Given the description of an element on the screen output the (x, y) to click on. 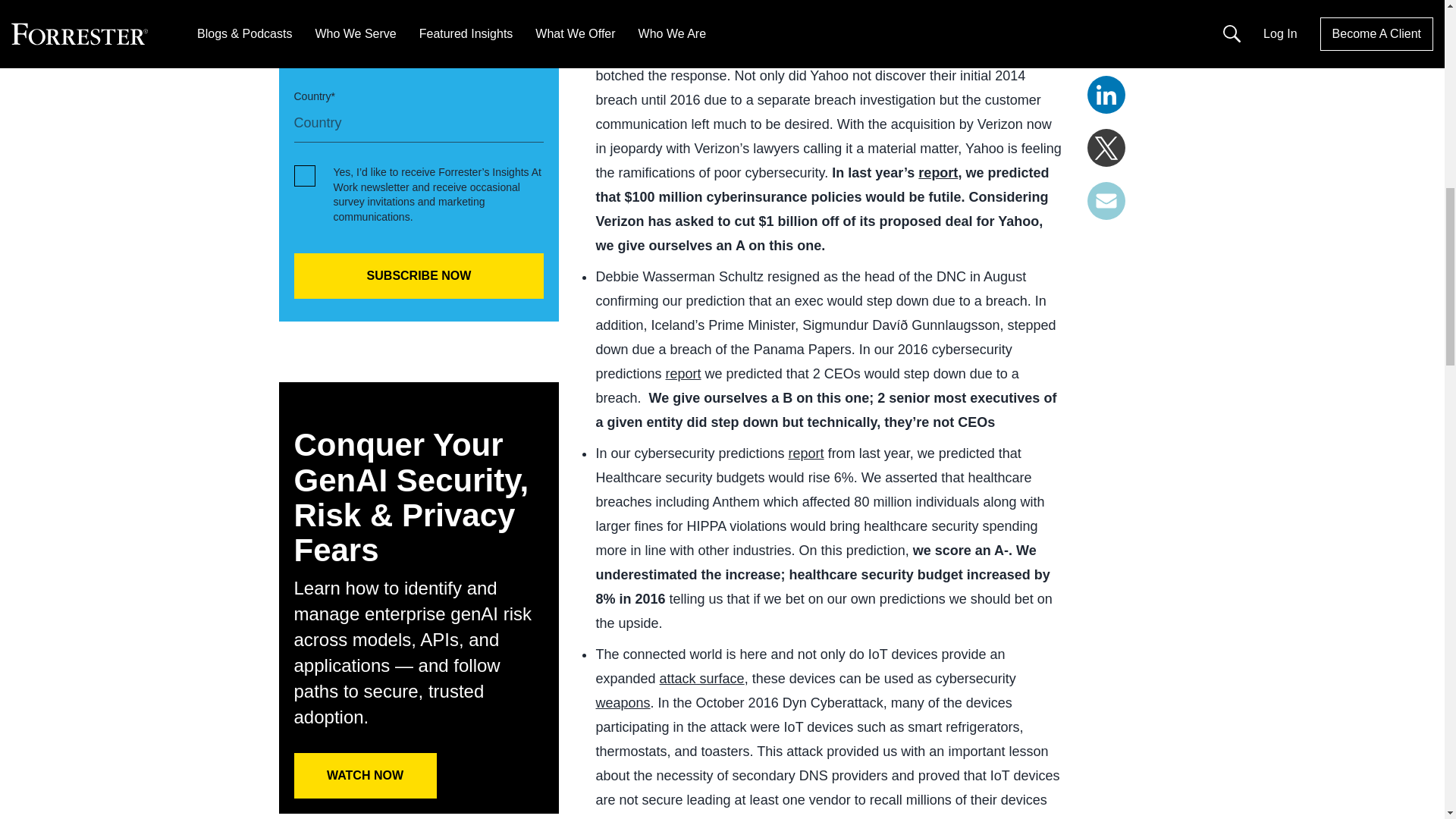
Subscribe Now (419, 275)
